Given the description of an element on the screen output the (x, y) to click on. 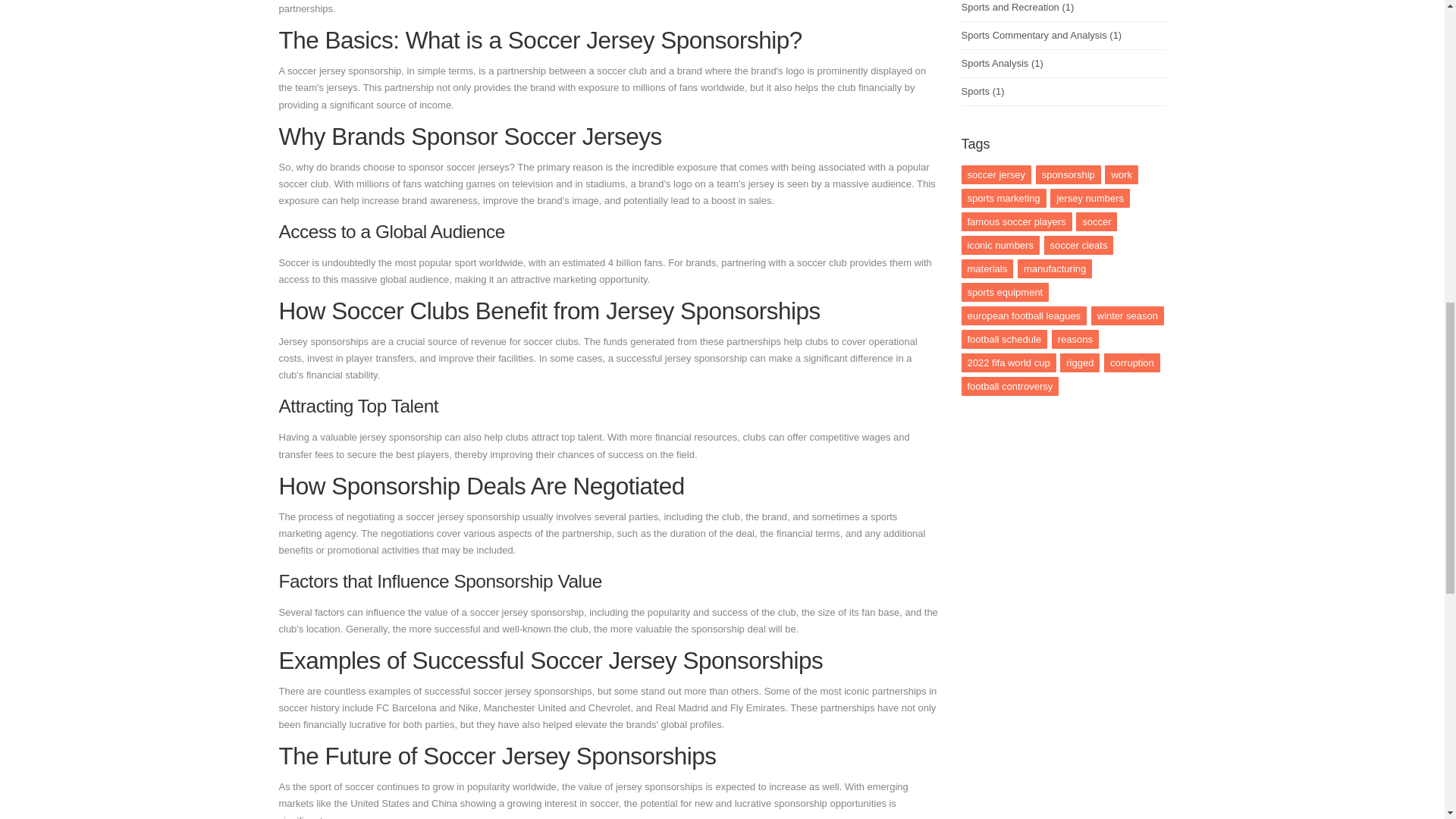
reasons (1075, 339)
iconic numbers (999, 244)
manufacturing (1054, 268)
materials (986, 268)
sports marketing (1003, 198)
rigged (1079, 362)
soccer (1095, 221)
famous soccer players (1015, 221)
corruption (1131, 362)
football schedule (1004, 339)
